Given the description of an element on the screen output the (x, y) to click on. 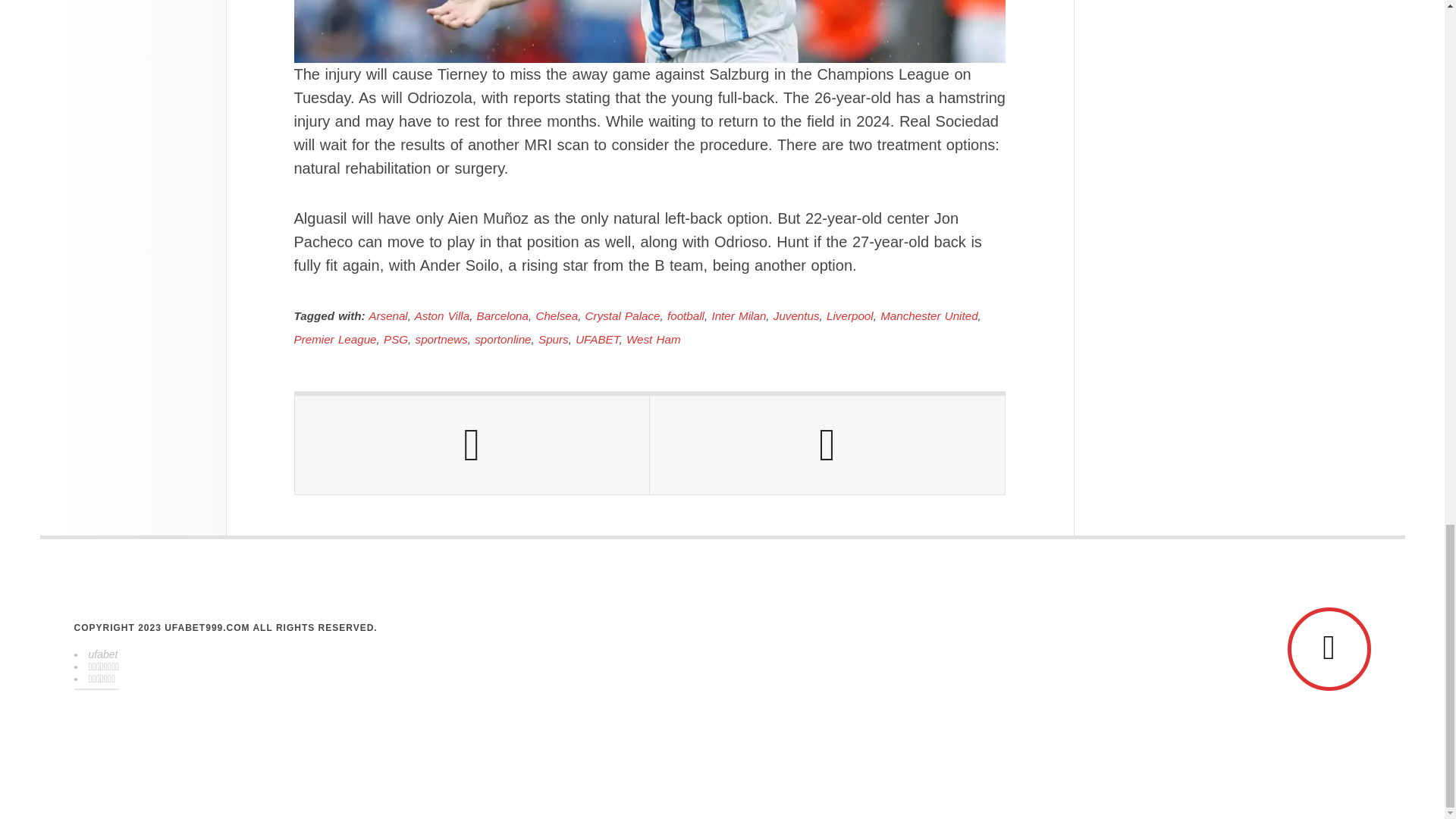
Previous Post (471, 444)
football (685, 315)
sportonline (502, 338)
Inter Milan (738, 315)
Premier League (335, 338)
Chelsea (556, 315)
Barcelona (502, 315)
UFABET (596, 338)
PSG (395, 338)
West Ham (653, 338)
